Given the description of an element on the screen output the (x, y) to click on. 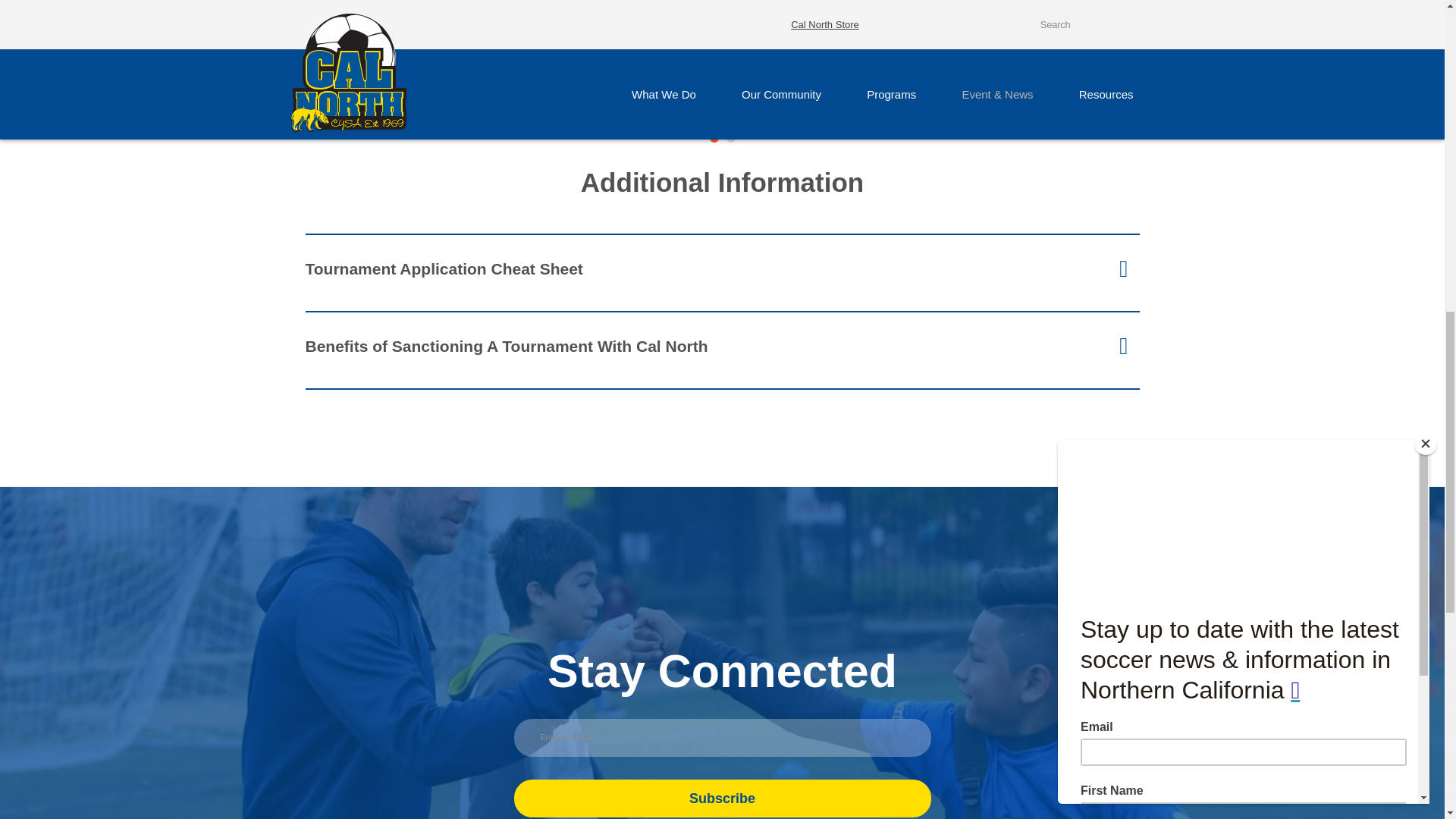
Subscribe (722, 798)
